Given the description of an element on the screen output the (x, y) to click on. 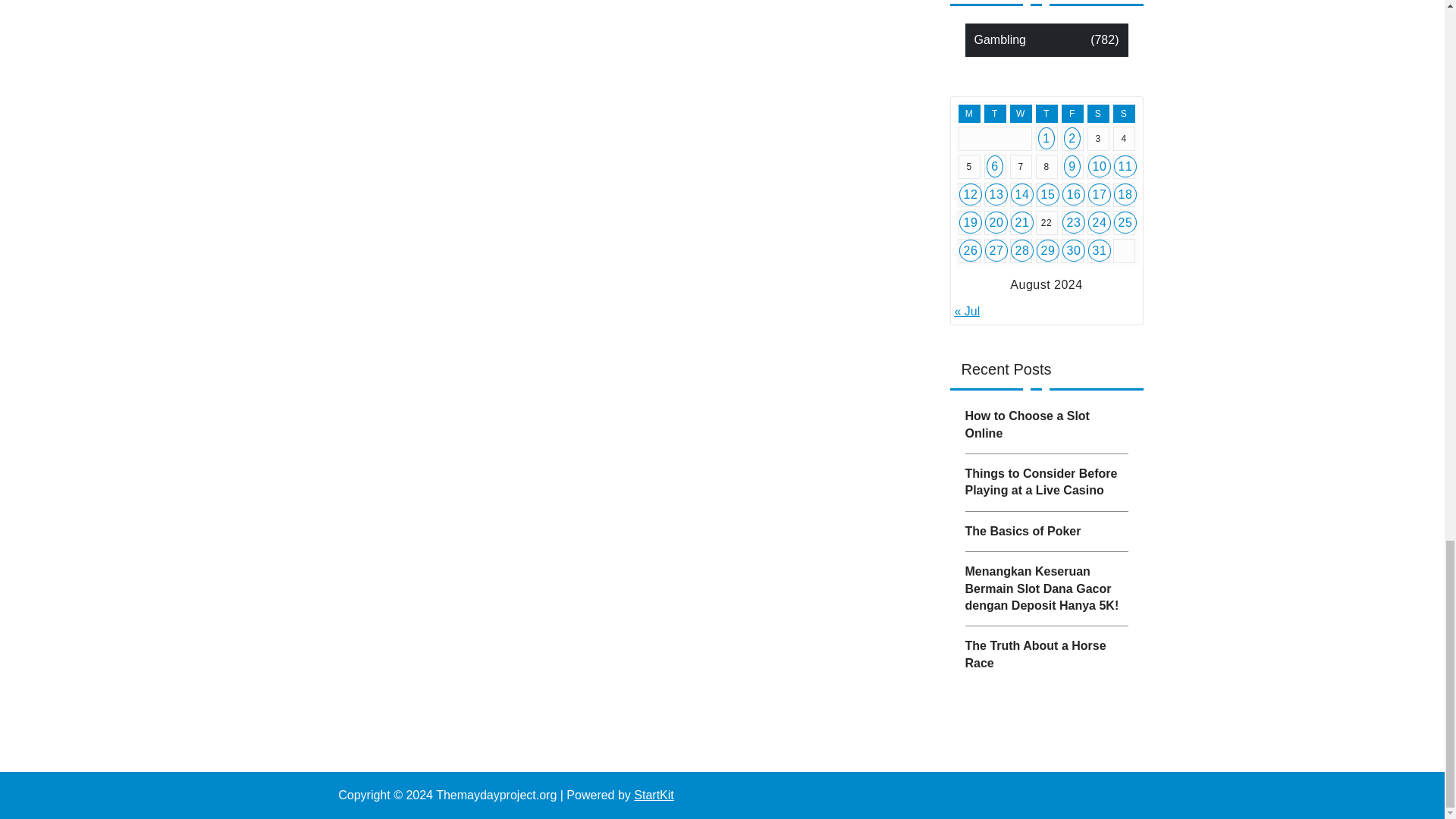
Wednesday (1021, 113)
Tuesday (995, 113)
Sunday (1124, 113)
Monday (968, 113)
Friday (1072, 113)
Saturday (1098, 113)
Thursday (1046, 113)
